Given the description of an element on the screen output the (x, y) to click on. 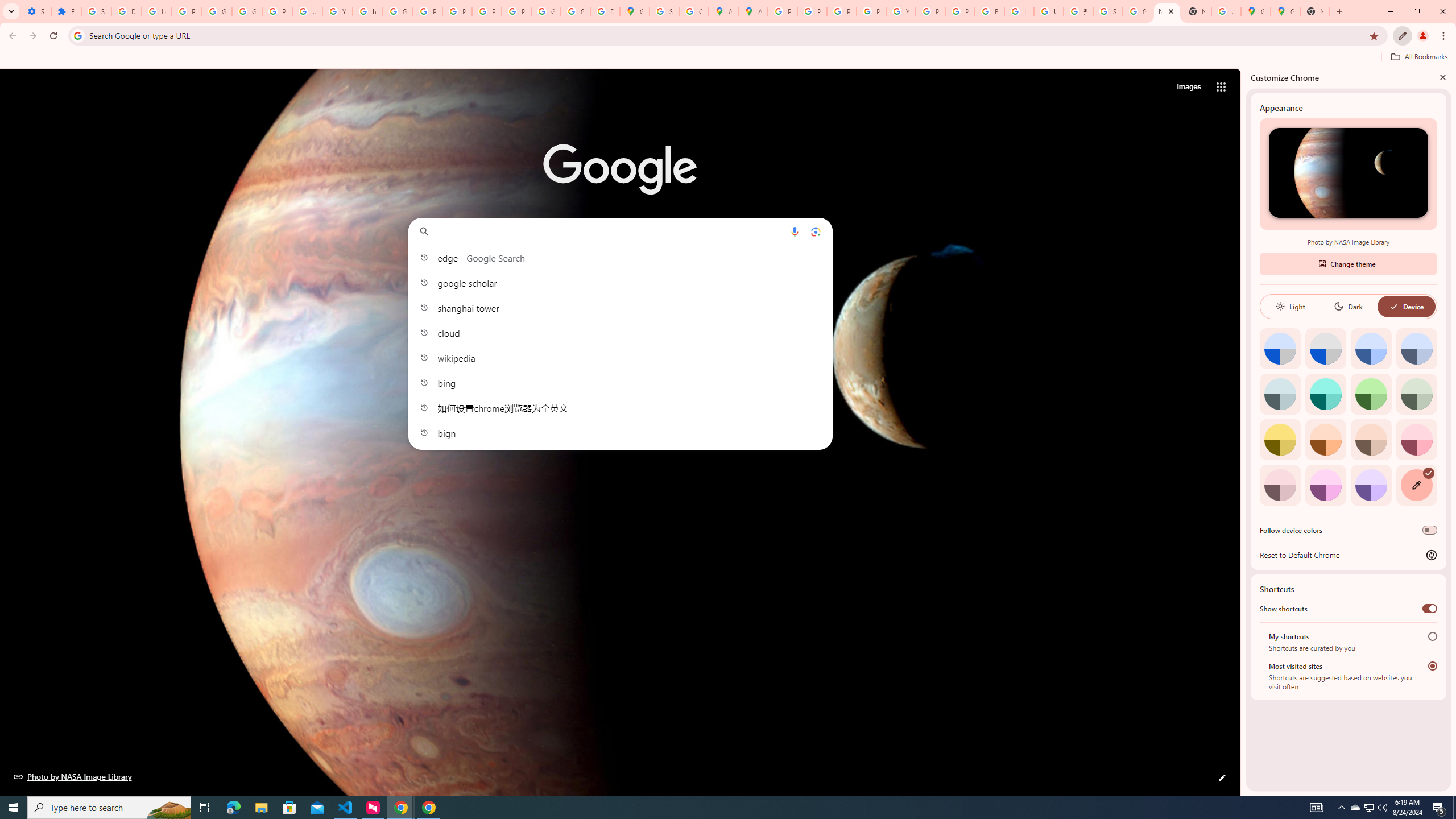
Search Google or type a URL (619, 230)
New Tab (1196, 11)
Search by image (816, 230)
Reset to Default Chrome (1347, 554)
Learn how to find your photos - Google Photos Help (156, 11)
